Given the description of an element on the screen output the (x, y) to click on. 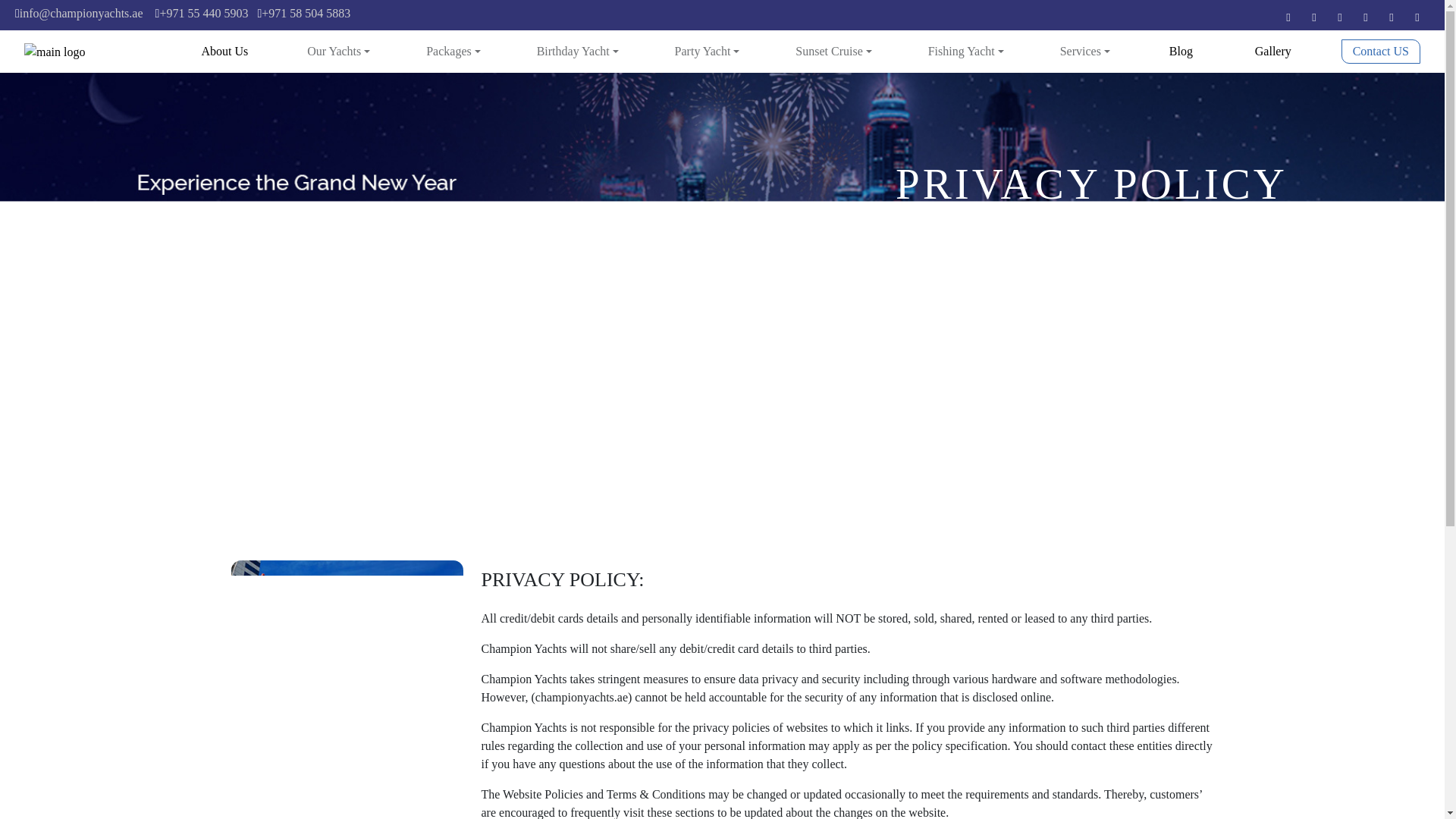
Pinterest (1365, 17)
Facebook (1288, 17)
Instagram (1390, 17)
Youtube (1339, 17)
About Us (224, 51)
LinkedIn (1416, 17)
Our Yachts (338, 51)
Twitter (1313, 17)
